Given the description of an element on the screen output the (x, y) to click on. 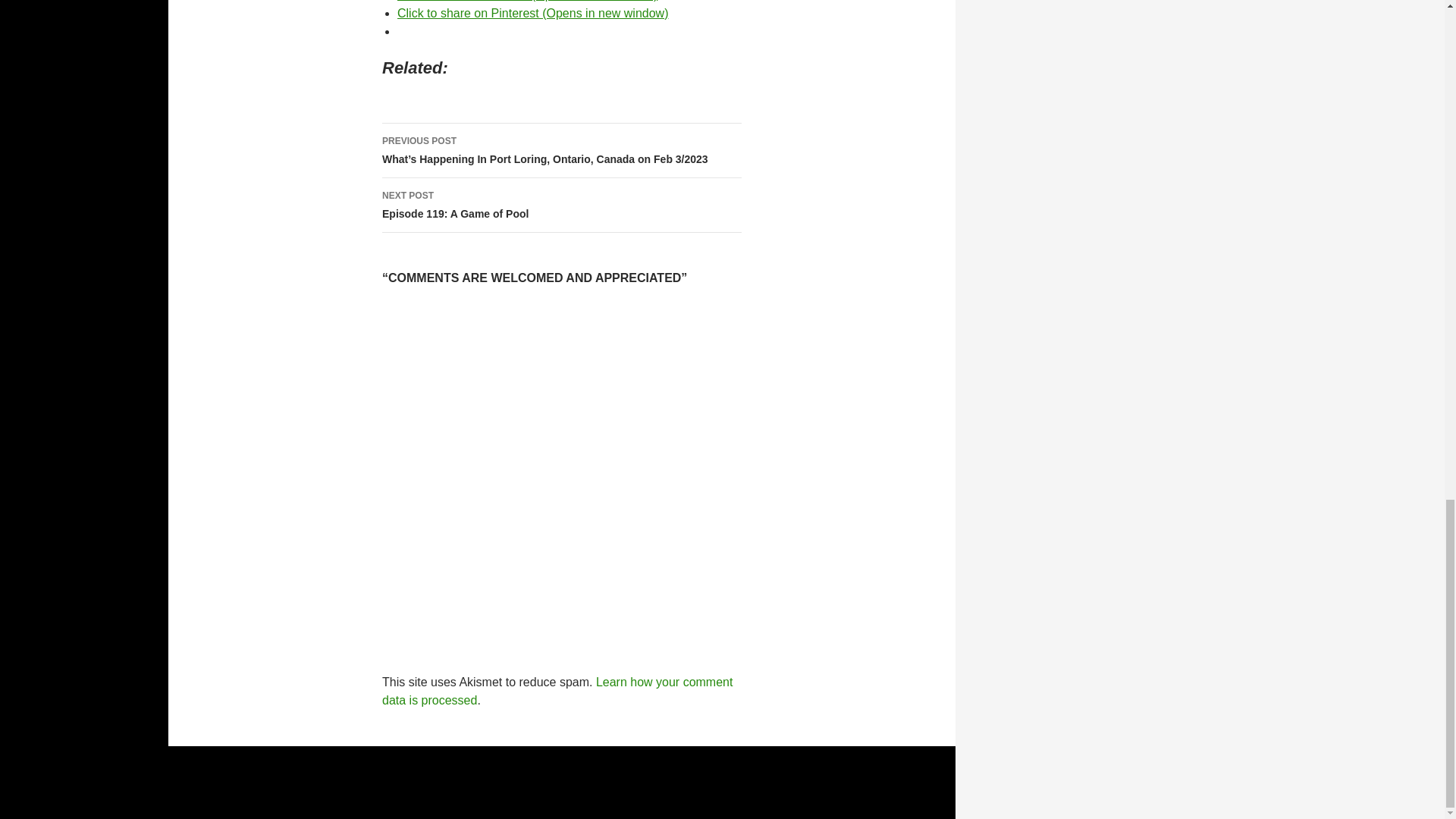
Comment Form (561, 205)
Click to share on Pinterest (561, 468)
Click to share on Pocket (532, 12)
